Given the description of an element on the screen output the (x, y) to click on. 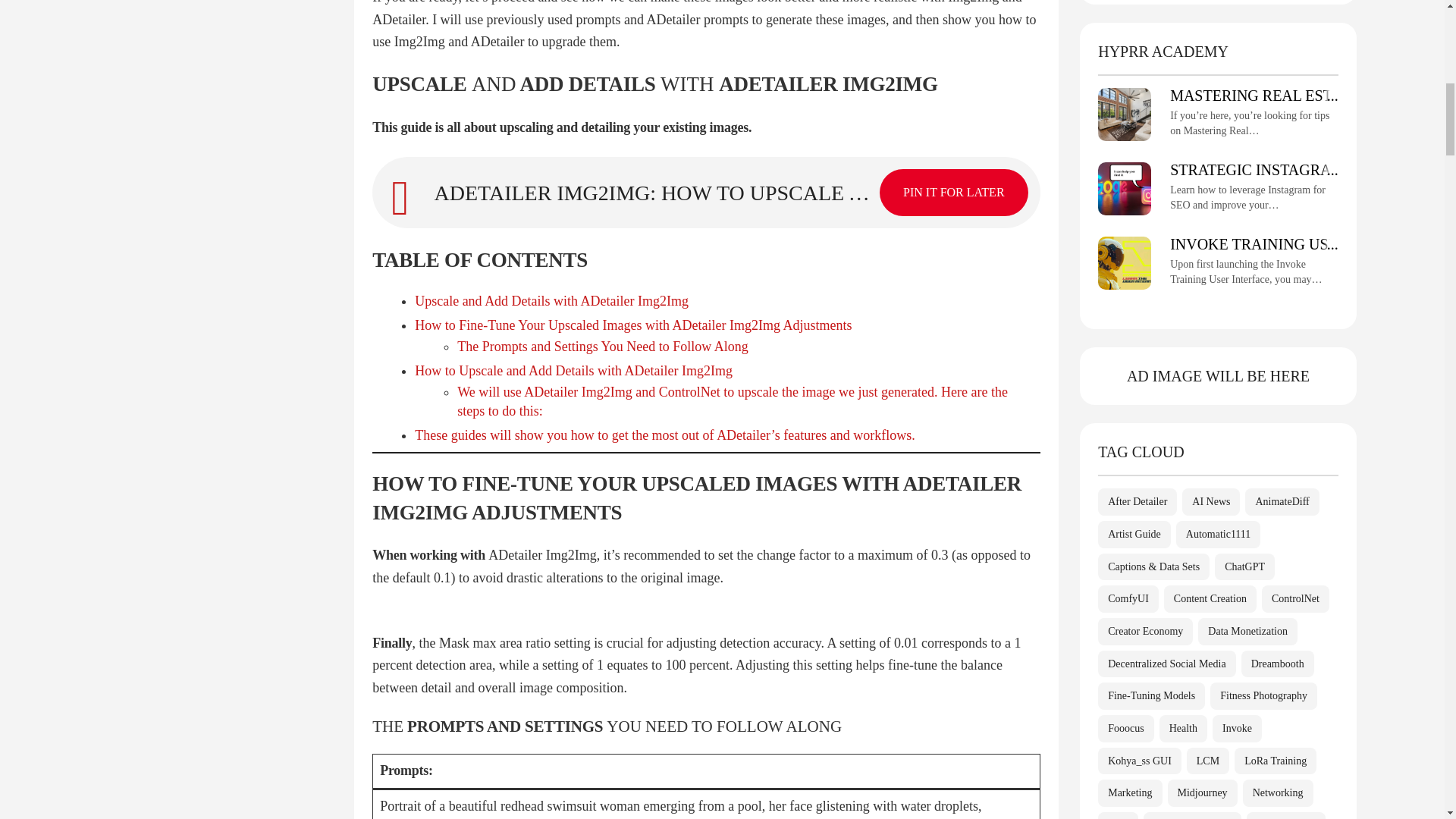
The Prompts and Settings You Need to Follow Along (602, 346)
Upscale and Add Details with ADetailer Img2Img (551, 300)
How to Upscale and Add Details with ADetailer Img2Img (573, 370)
PIN IT FOR LATER (953, 192)
